Given the description of an element on the screen output the (x, y) to click on. 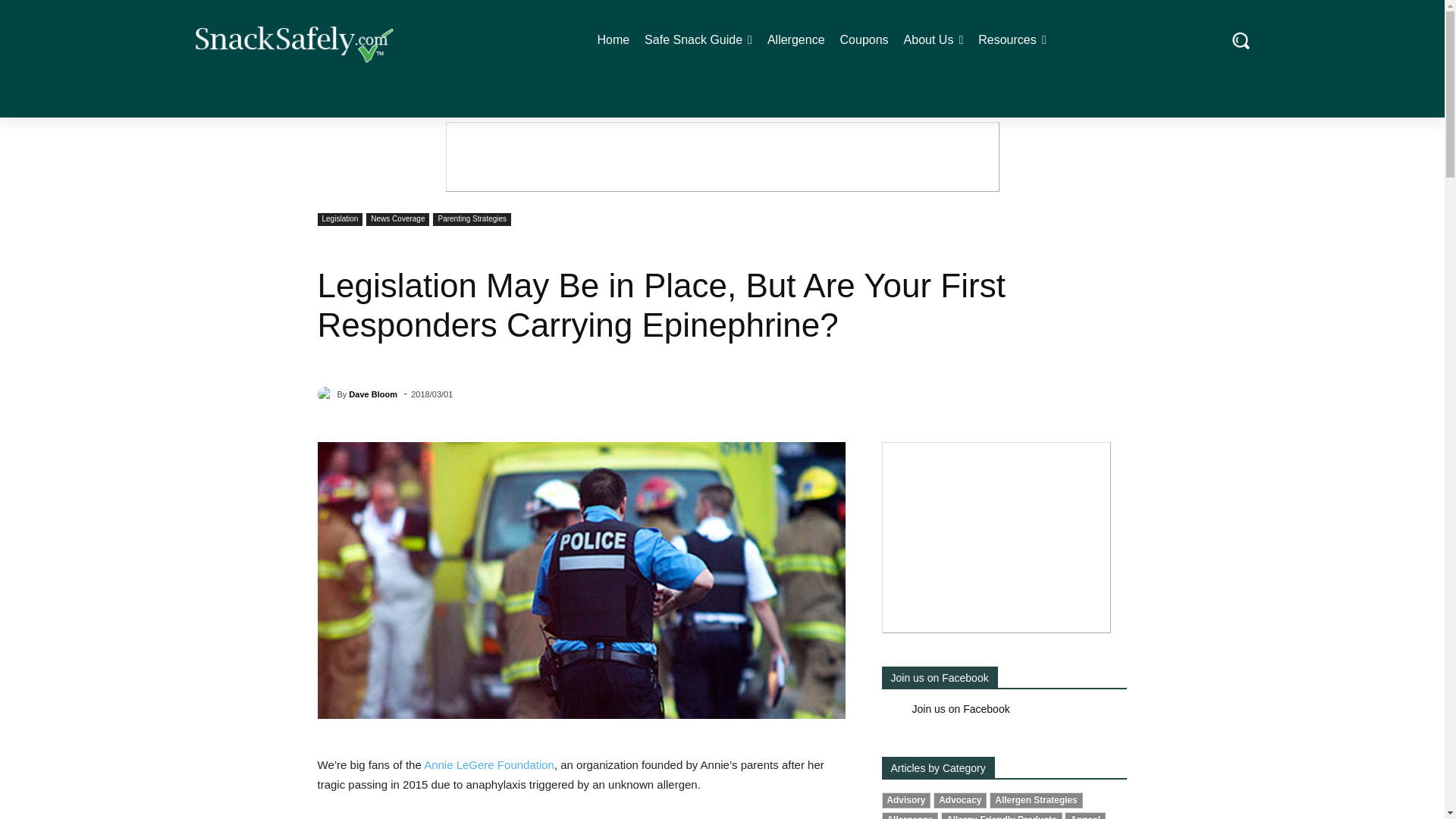
Home (613, 40)
Safe Snack Guide (698, 40)
Dave Bloom (326, 394)
